Given the description of an element on the screen output the (x, y) to click on. 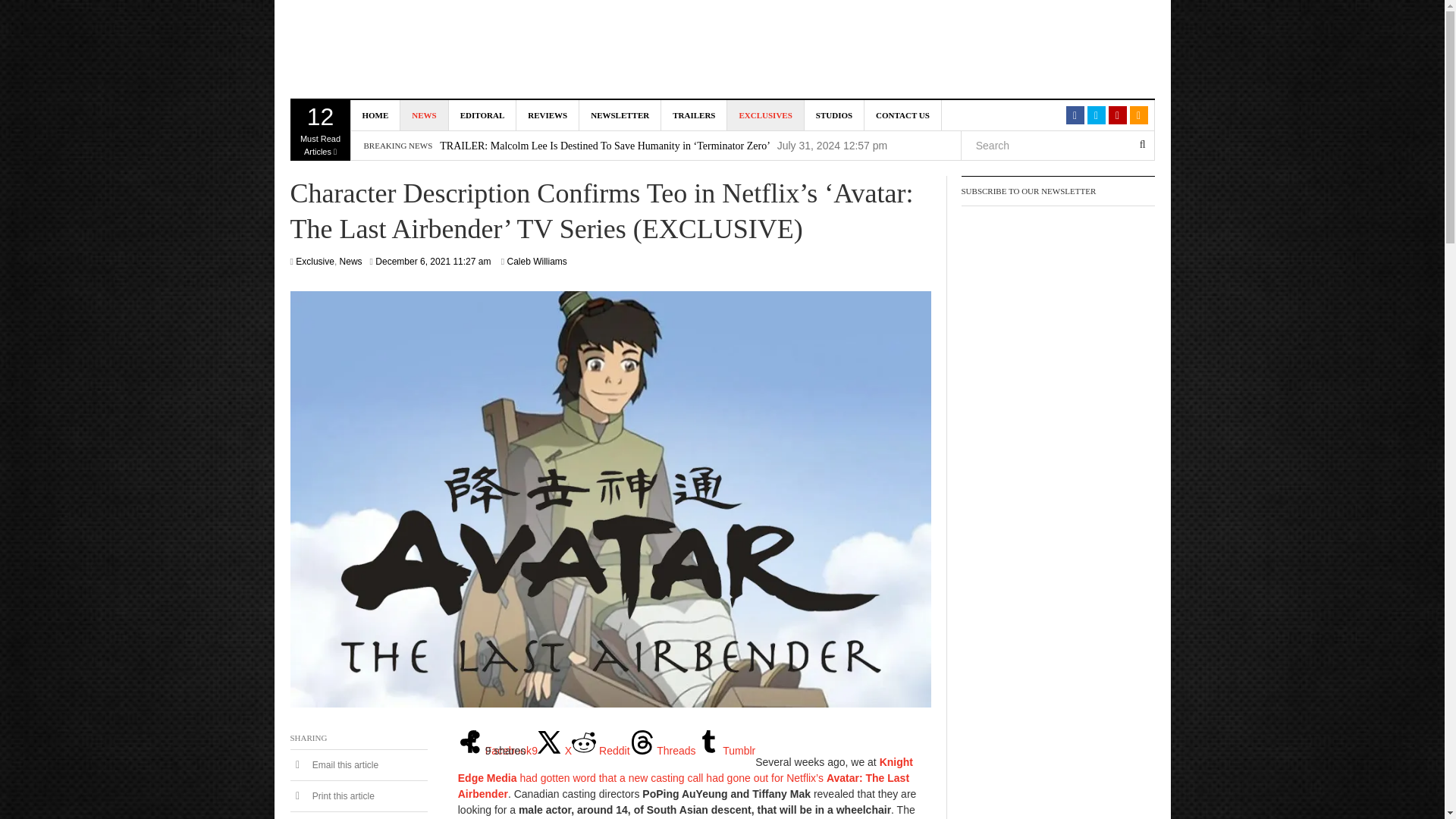
Share on X (554, 750)
Knight Edge Media (423, 50)
REVIEWS (547, 114)
HOME (375, 114)
Share on Threads (662, 750)
CONTACT US (903, 114)
STUDIOS (834, 114)
EDITORAL (482, 114)
Share on Tumblr (725, 750)
Share on Facebook (497, 750)
